Given the description of an element on the screen output the (x, y) to click on. 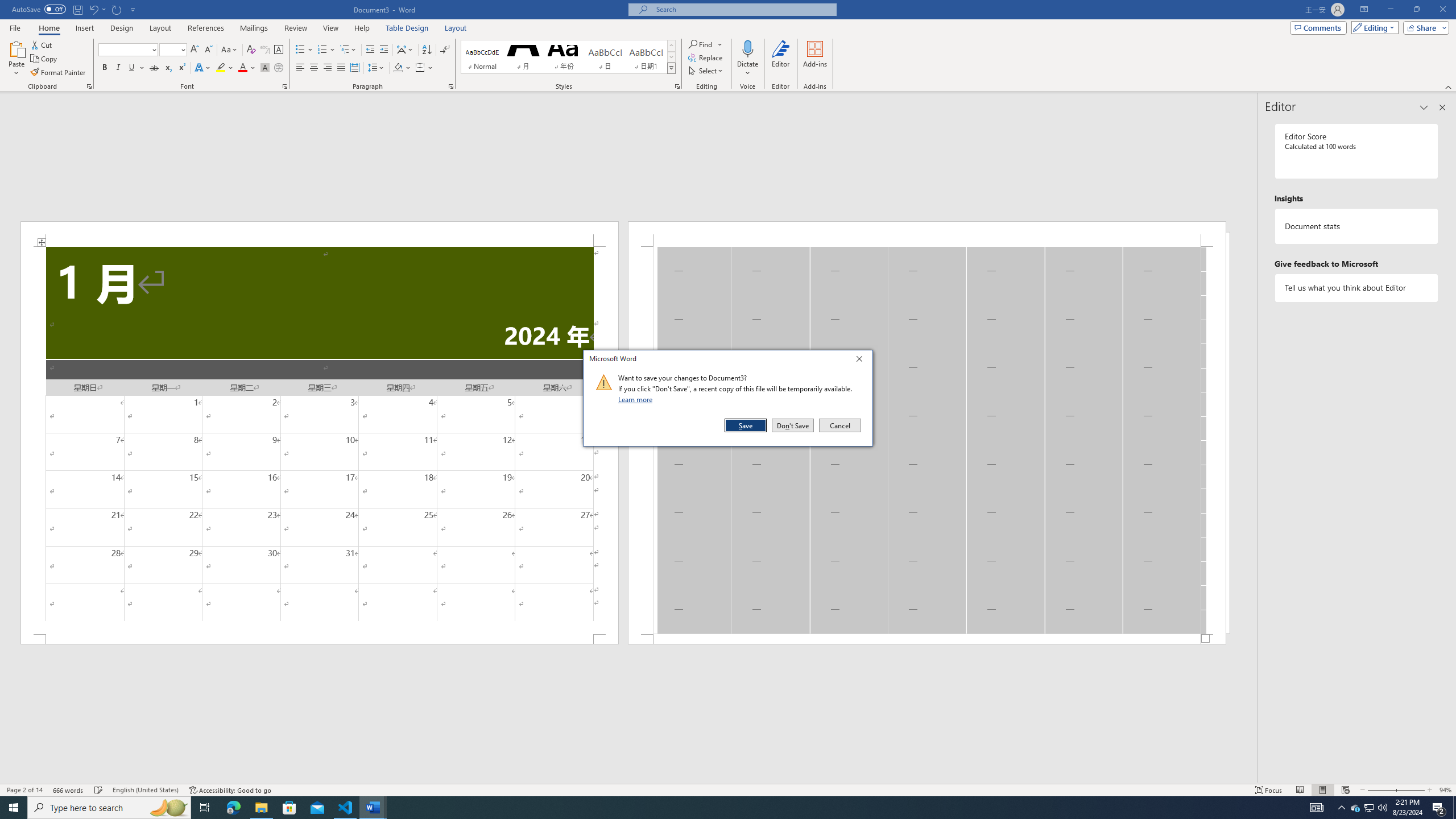
Font... (285, 85)
View (330, 28)
Read Mode (1299, 790)
Shrink Font (208, 49)
File Tab (15, 27)
Type here to search (108, 807)
More Options (747, 68)
AutoSave (38, 9)
Change Case (229, 49)
Collapse the Ribbon (1448, 86)
Sort... (426, 49)
Word - 2 running windows (373, 807)
Microsoft search (742, 9)
